Given the description of an element on the screen output the (x, y) to click on. 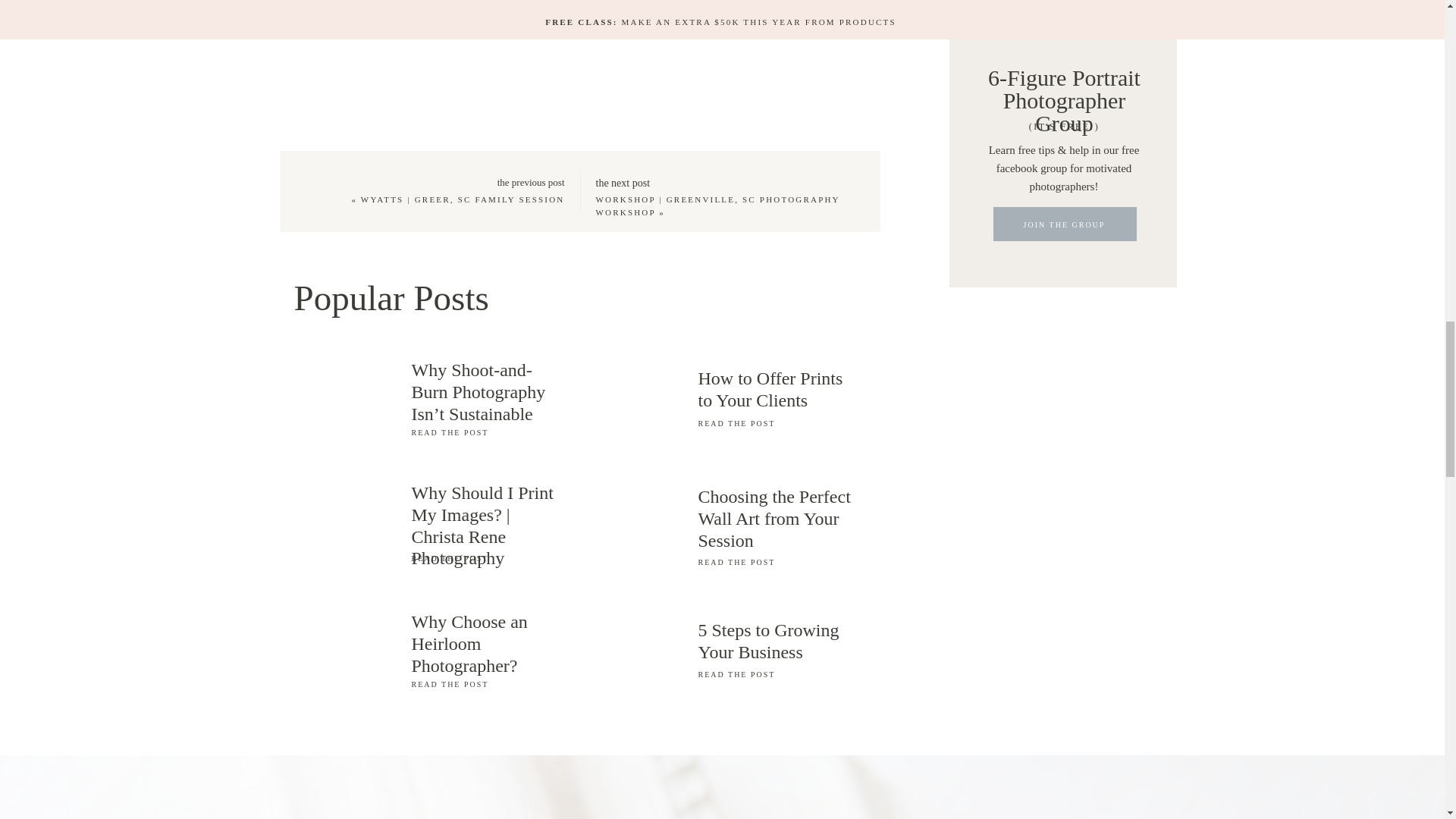
READ THE POST (776, 560)
5 Steps to Growing Your Business (776, 638)
6-Figure Portrait Photographer Group (1064, 76)
READ THE POST (776, 673)
JOIN THE GROUP (1063, 227)
